Given the description of an element on the screen output the (x, y) to click on. 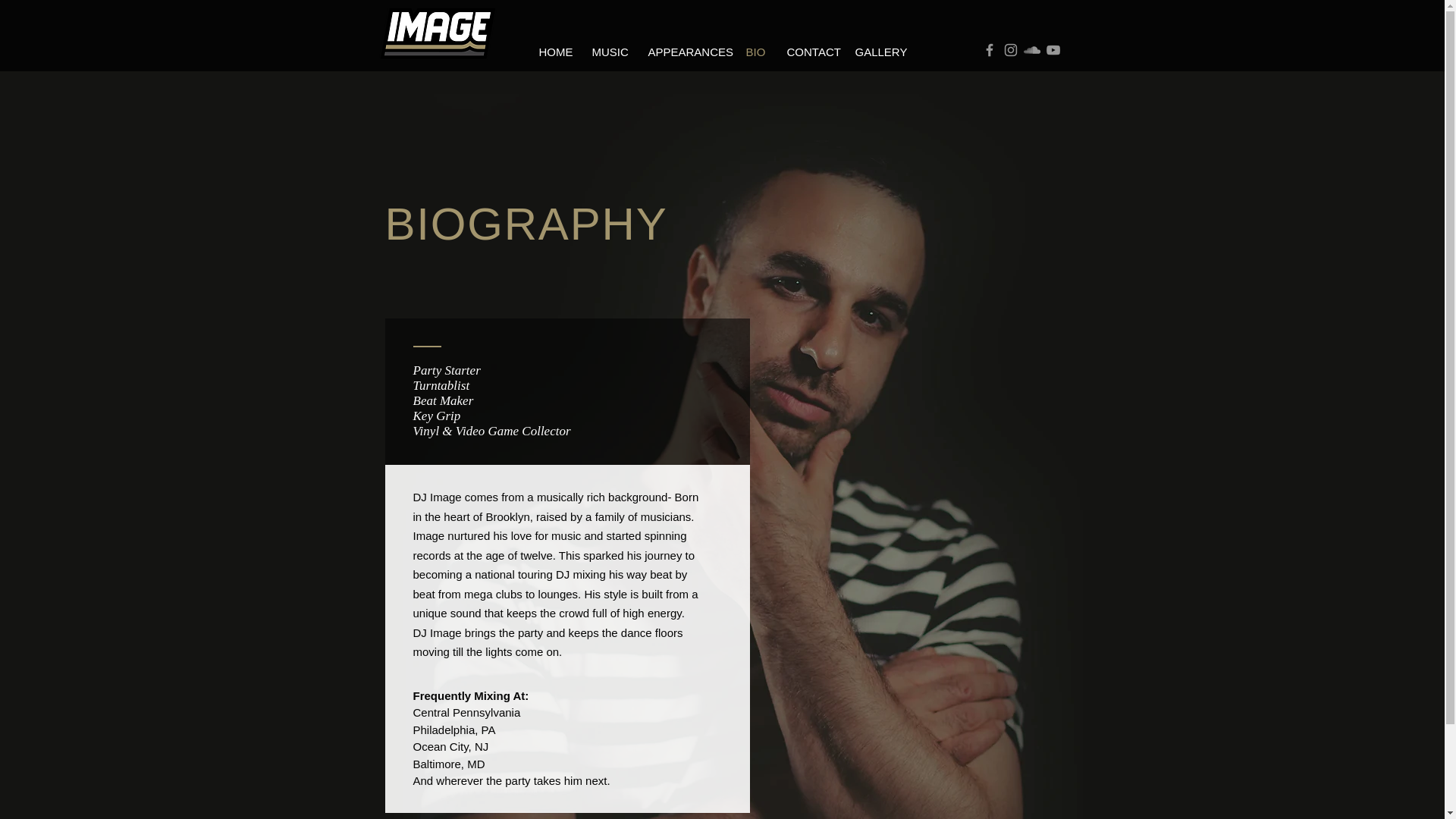
MUSIC (606, 52)
CONTACT (808, 52)
APPEARANCES (683, 52)
BIO (753, 52)
GALLERY (877, 52)
HOME (552, 52)
